Given the description of an element on the screen output the (x, y) to click on. 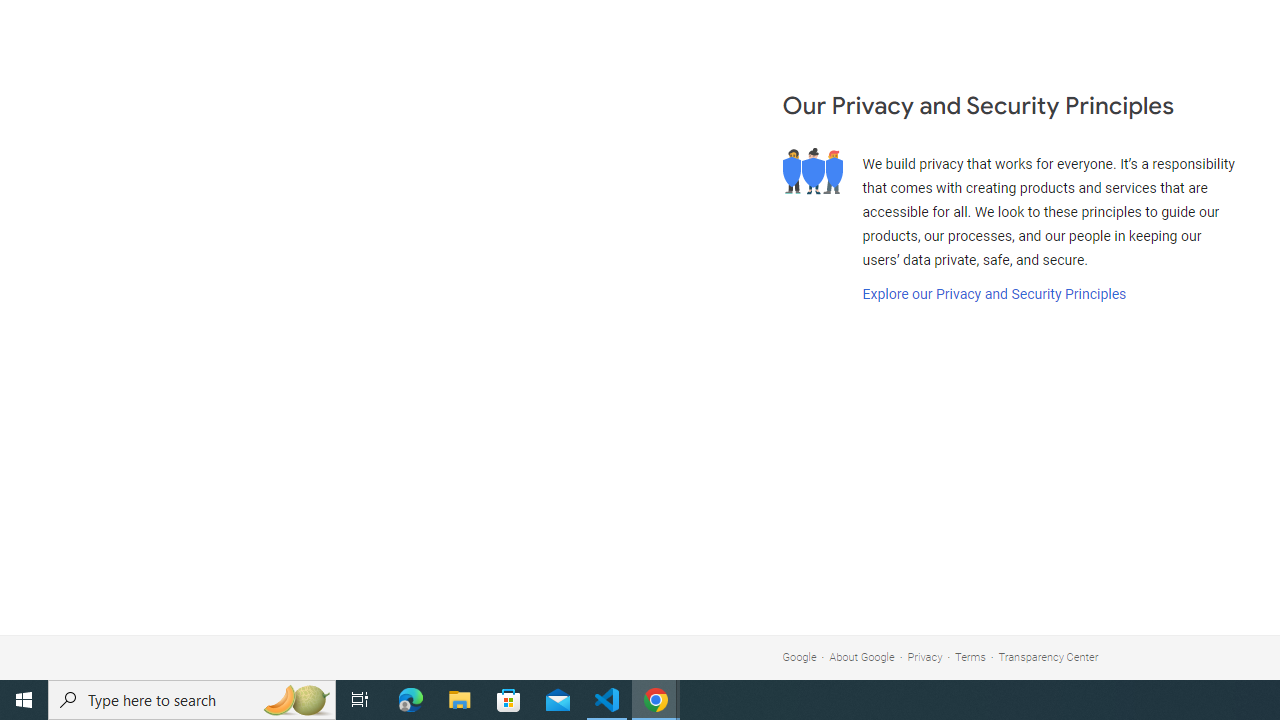
Transparency Center (1048, 656)
Terms (969, 656)
Google (799, 656)
About Google (861, 656)
Explore our Privacy and Security Principles (993, 294)
Privacy (925, 656)
